Given the description of an element on the screen output the (x, y) to click on. 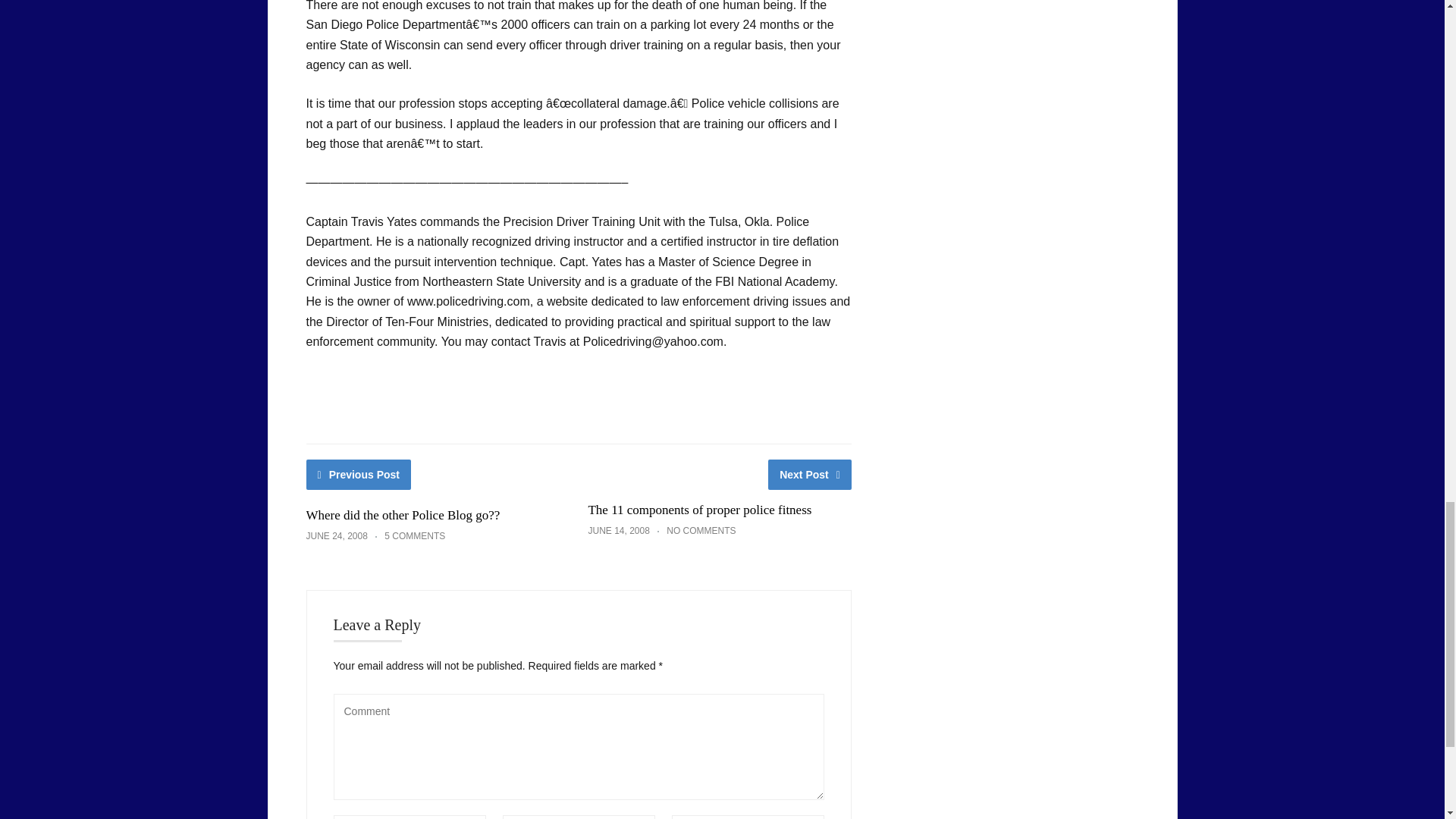
Previous Post (358, 474)
5 COMMENTS (414, 535)
NO COMMENTS (700, 530)
The 11 components of proper police fitness (699, 509)
Where did the other Police Blog go?? (402, 514)
Next Post (809, 474)
